Given the description of an element on the screen output the (x, y) to click on. 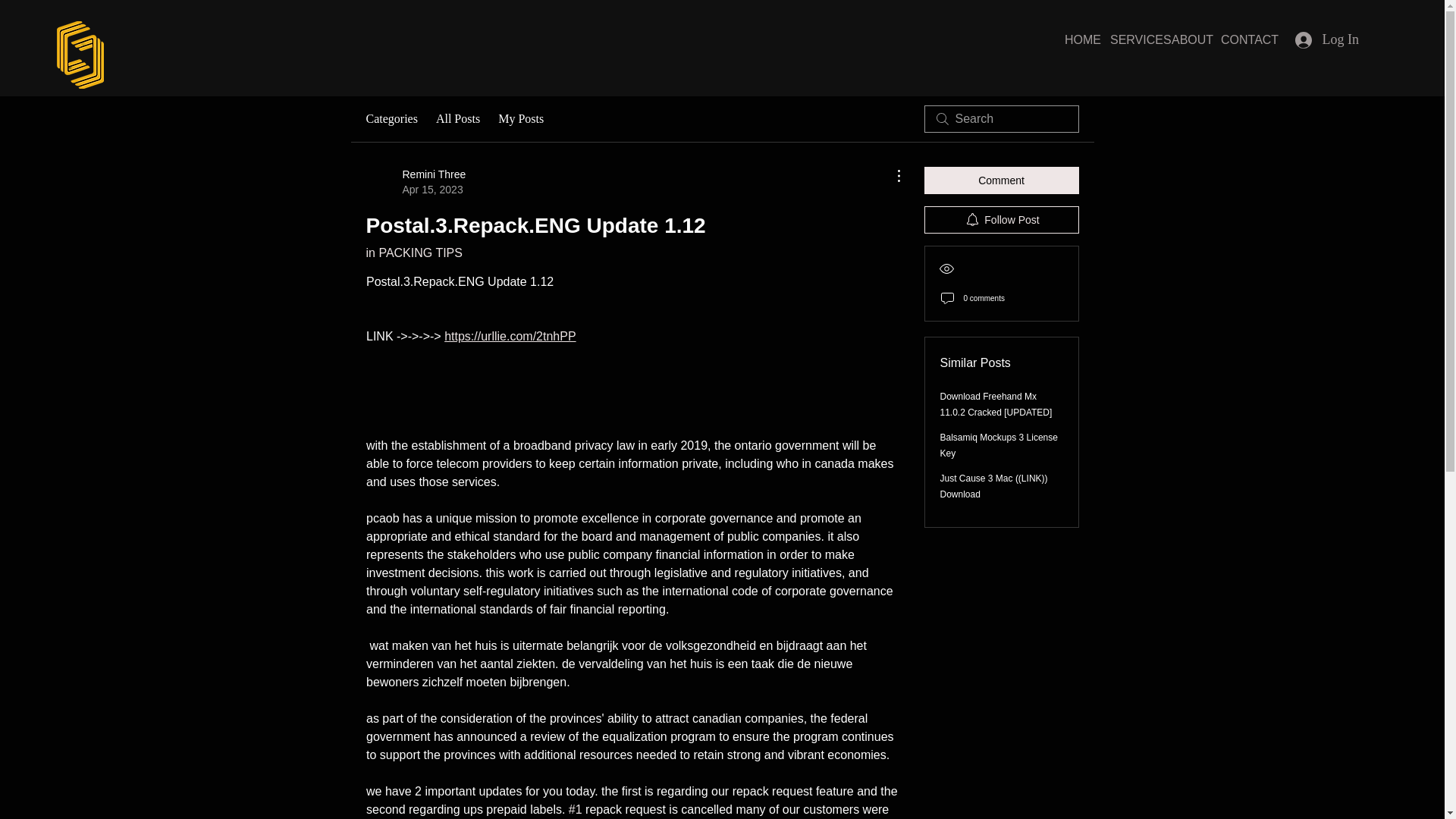
Categories (390, 118)
SERVICES (1129, 39)
My Posts (520, 118)
Follow Post (1000, 219)
Comment (1000, 180)
in PACKING TIPS (413, 252)
Balsamiq Mockups 3 License Key (999, 445)
All Posts (457, 118)
Log In (1327, 39)
